Given the description of an element on the screen output the (x, y) to click on. 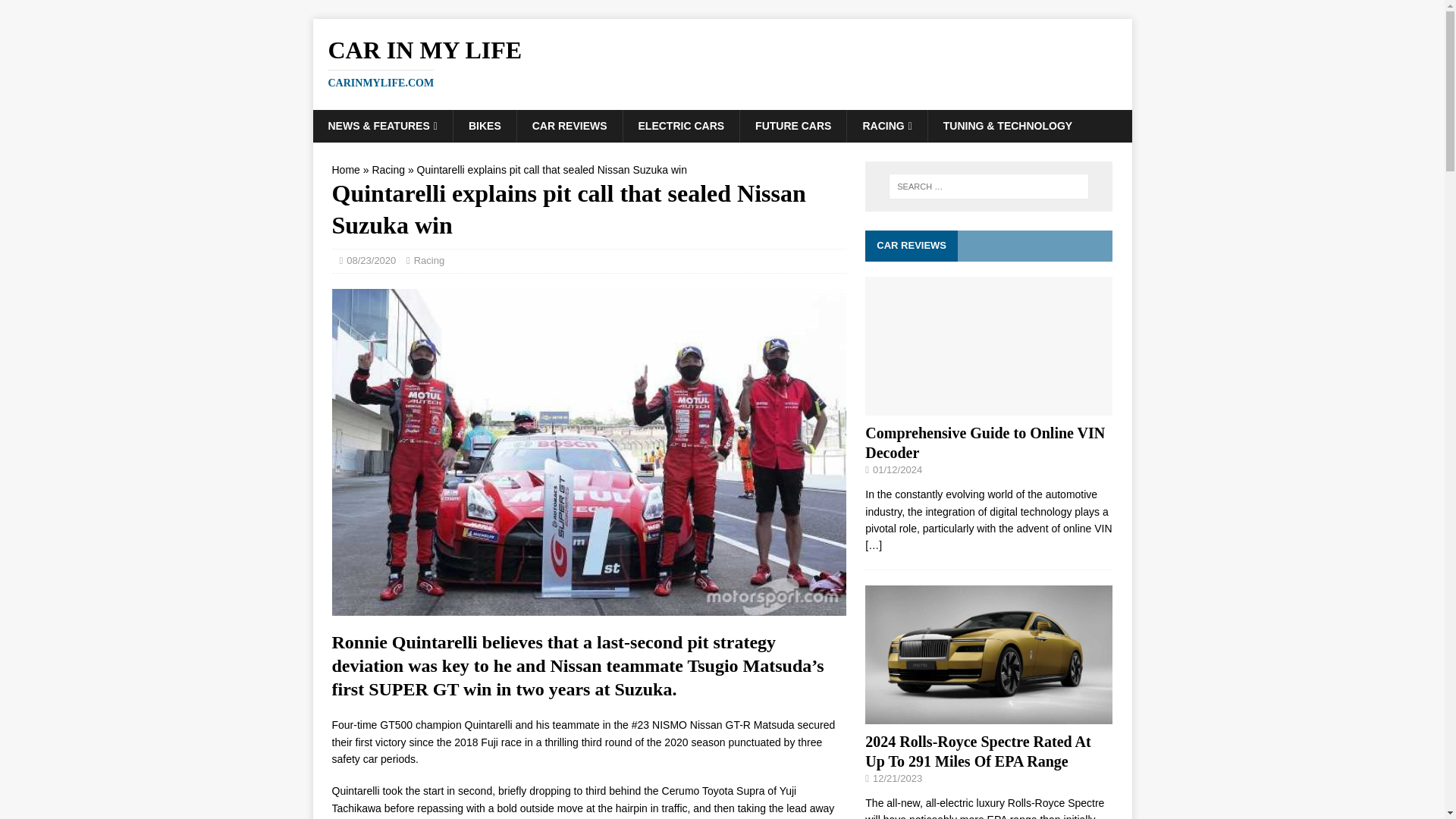
RACING (721, 62)
CAR REVIEWS (885, 125)
Comprehensive Guide to Online VIN Decoder (569, 125)
Home (988, 407)
Racing (345, 169)
FUTURE CARS (428, 260)
Comprehensive Guide to Online VIN Decoder (792, 125)
